Given the description of an element on the screen output the (x, y) to click on. 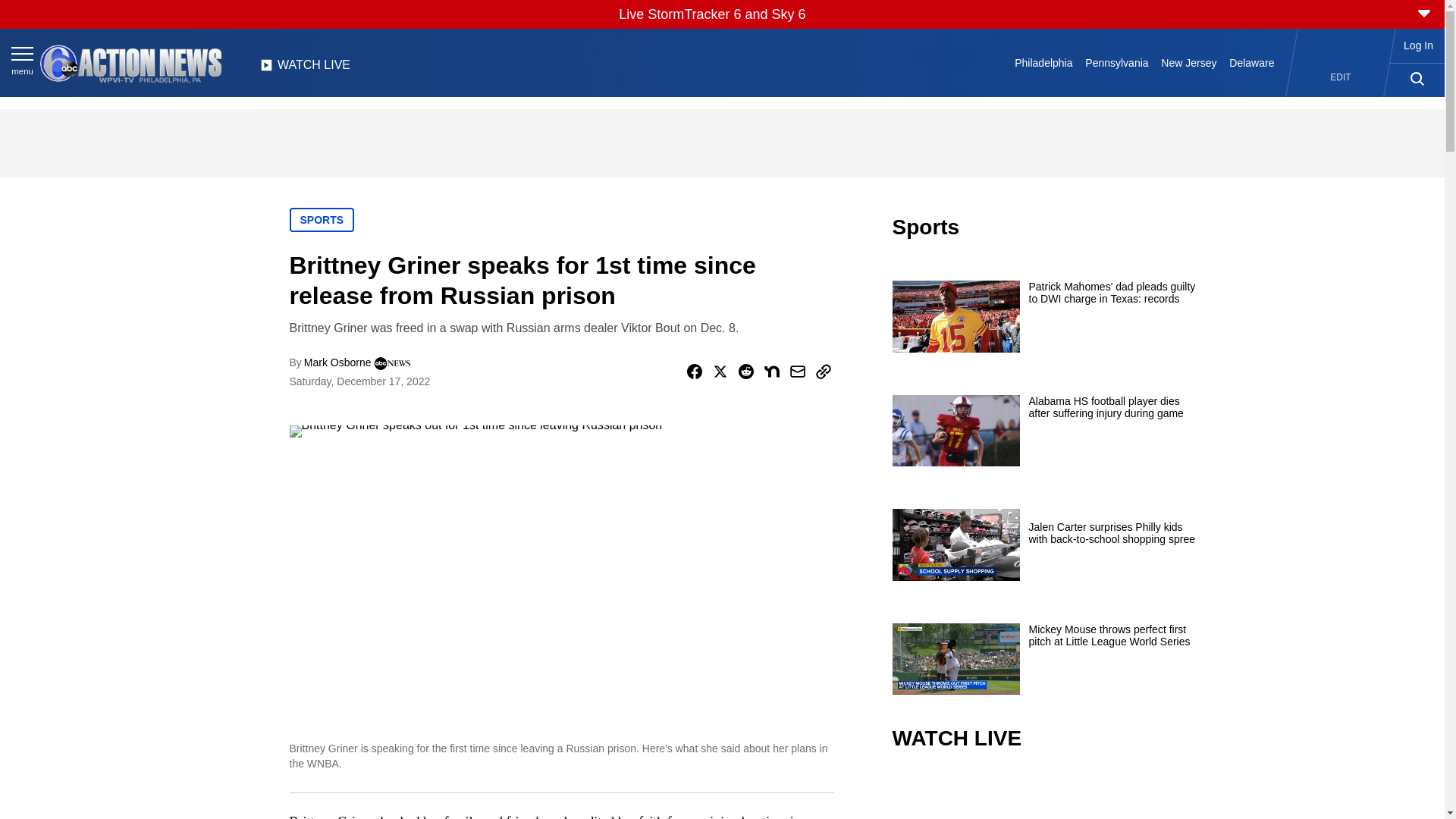
video.title (1043, 796)
WATCH LIVE (305, 69)
New Jersey (1188, 62)
Delaware (1252, 62)
Pennsylvania (1116, 62)
Philadelphia (1043, 62)
EDIT (1340, 77)
